Given the description of an element on the screen output the (x, y) to click on. 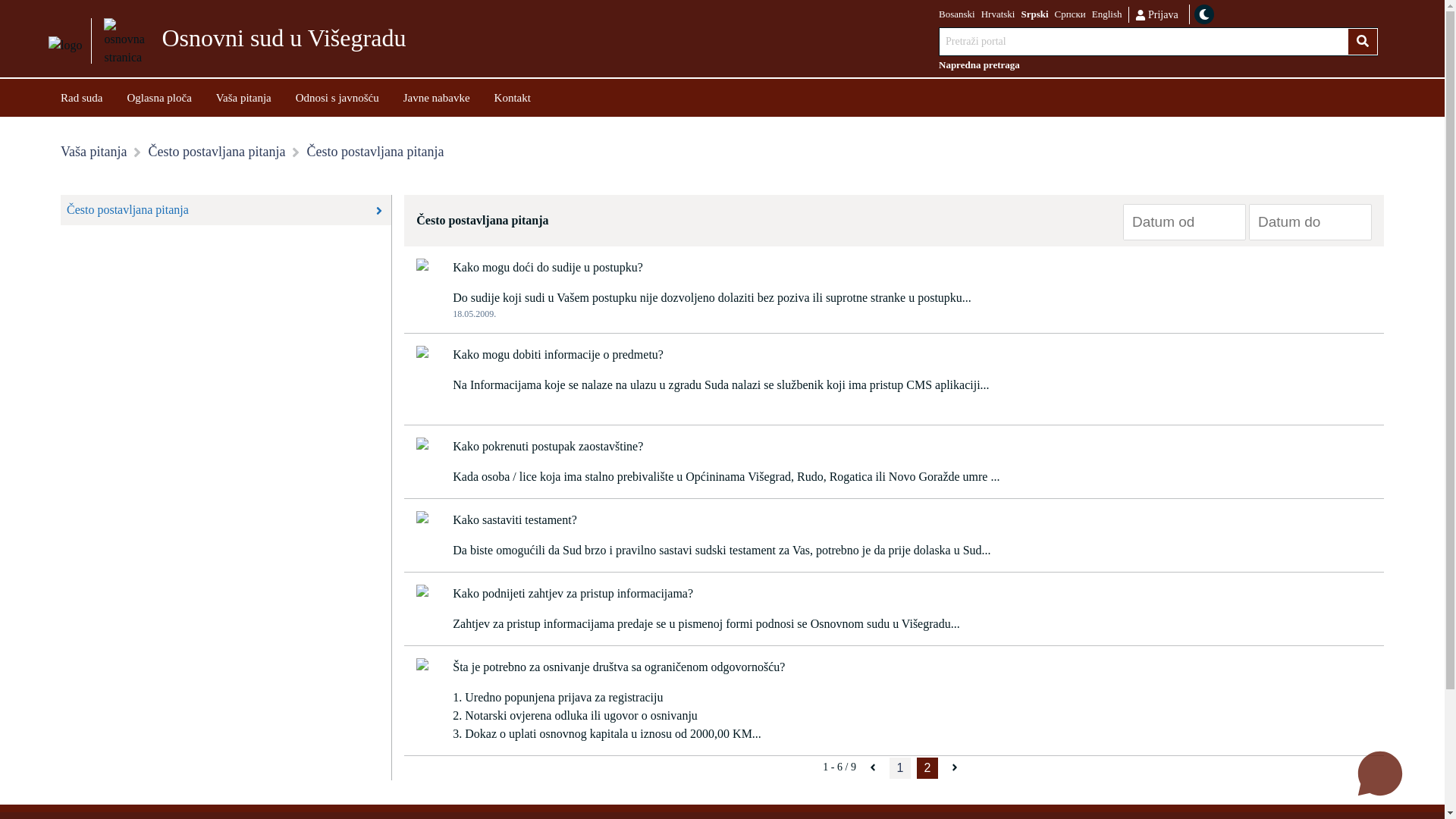
Kako mogu dobiti informacije o predmetu? Element type: text (557, 354)
Kako sastaviti testament? Element type: text (514, 520)
Prijava Element type: text (1155, 13)
Rad suda Element type: text (81, 97)
Kako podnijeti zahtjev za pristup informacijama? Element type: text (572, 593)
Javne nabavke Element type: text (436, 97)
Napredna pretraga Element type: text (1157, 65)
Kontakt Element type: text (512, 97)
